Given the description of an element on the screen output the (x, y) to click on. 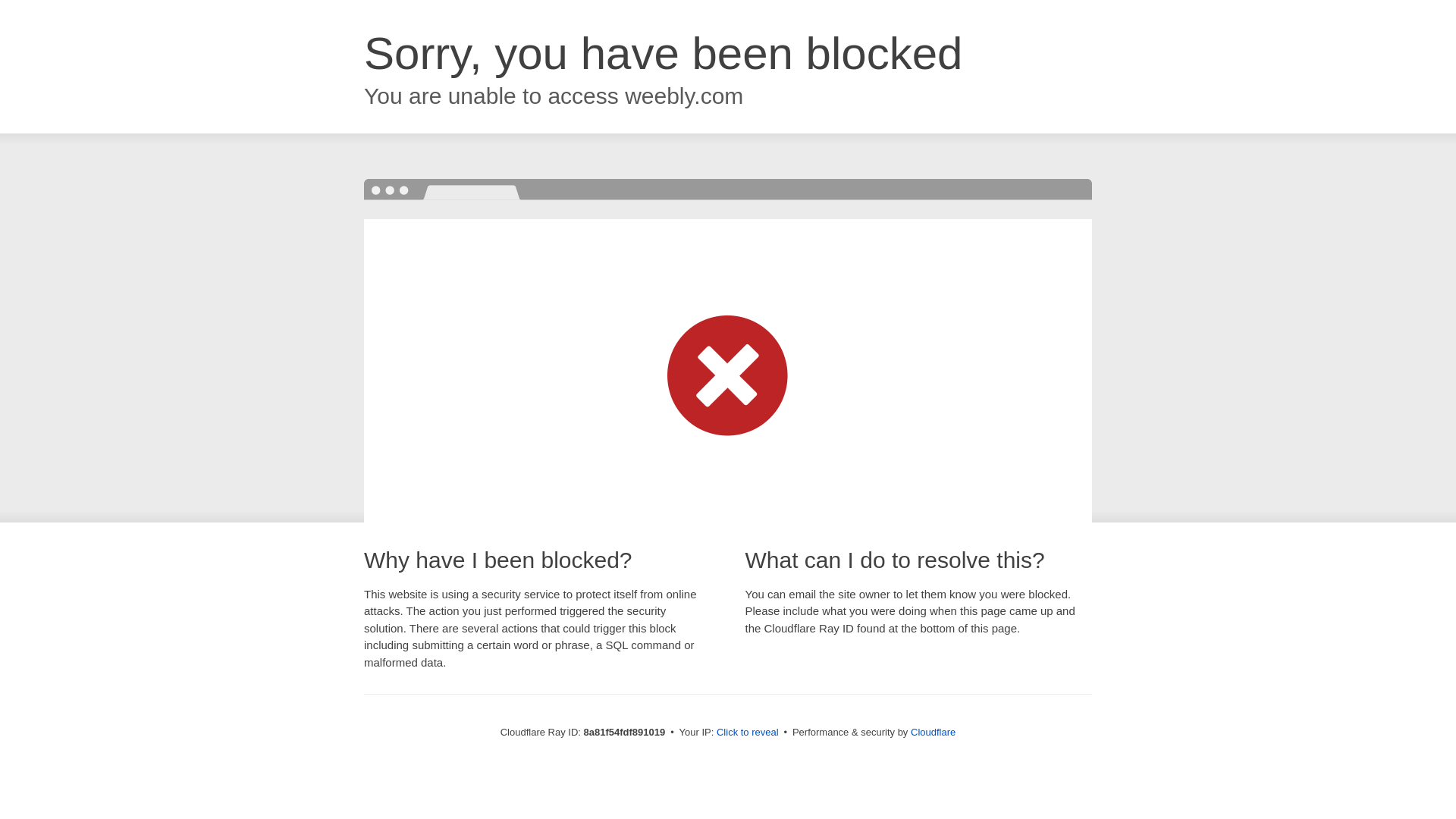
Click to reveal (747, 732)
Cloudflare (933, 731)
